Given the description of an element on the screen output the (x, y) to click on. 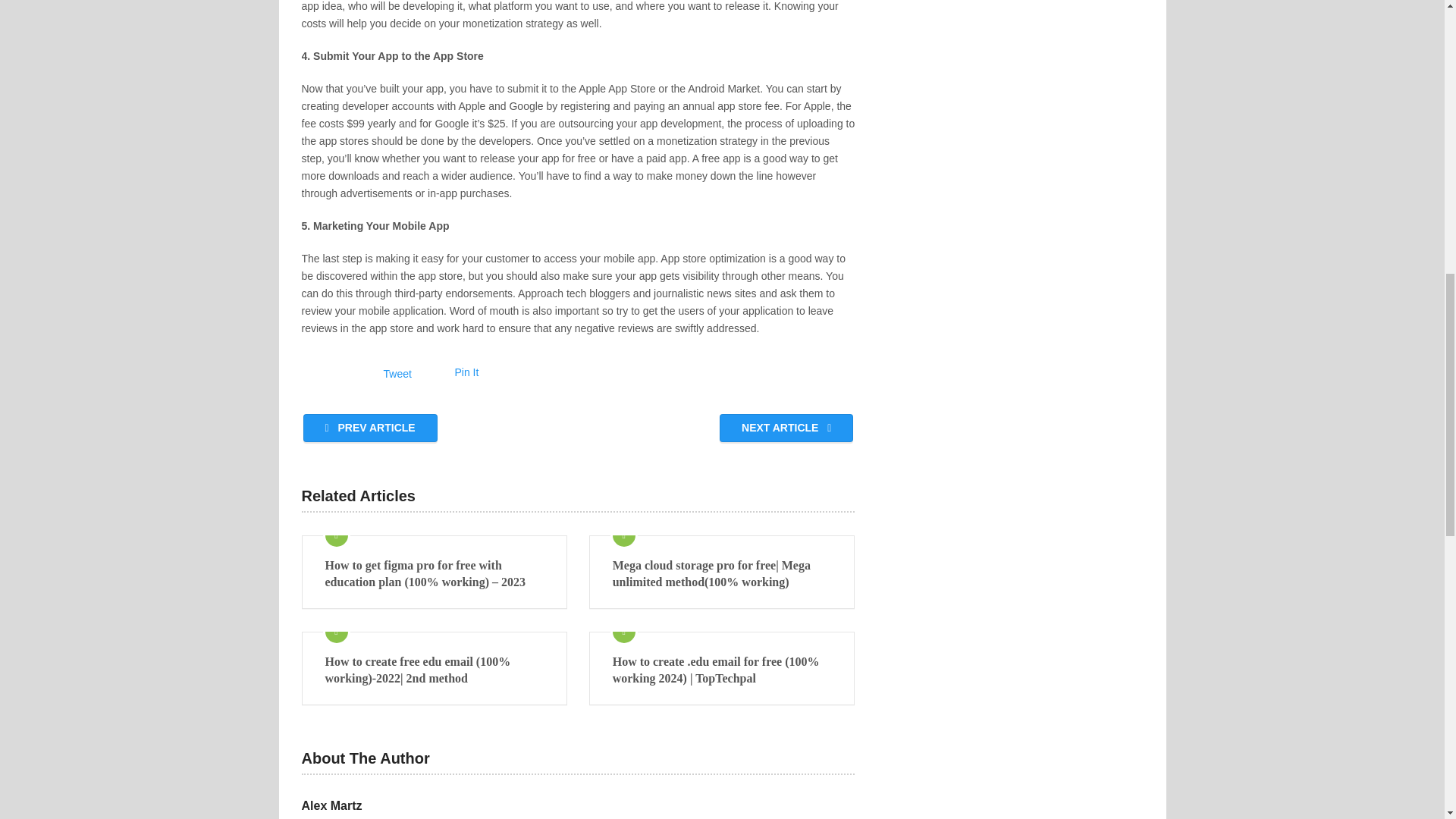
Tweet (398, 373)
Pin It (466, 372)
PREV ARTICLE (370, 428)
NEXT ARTICLE (786, 428)
Alex Martz (331, 805)
